Given the description of an element on the screen output the (x, y) to click on. 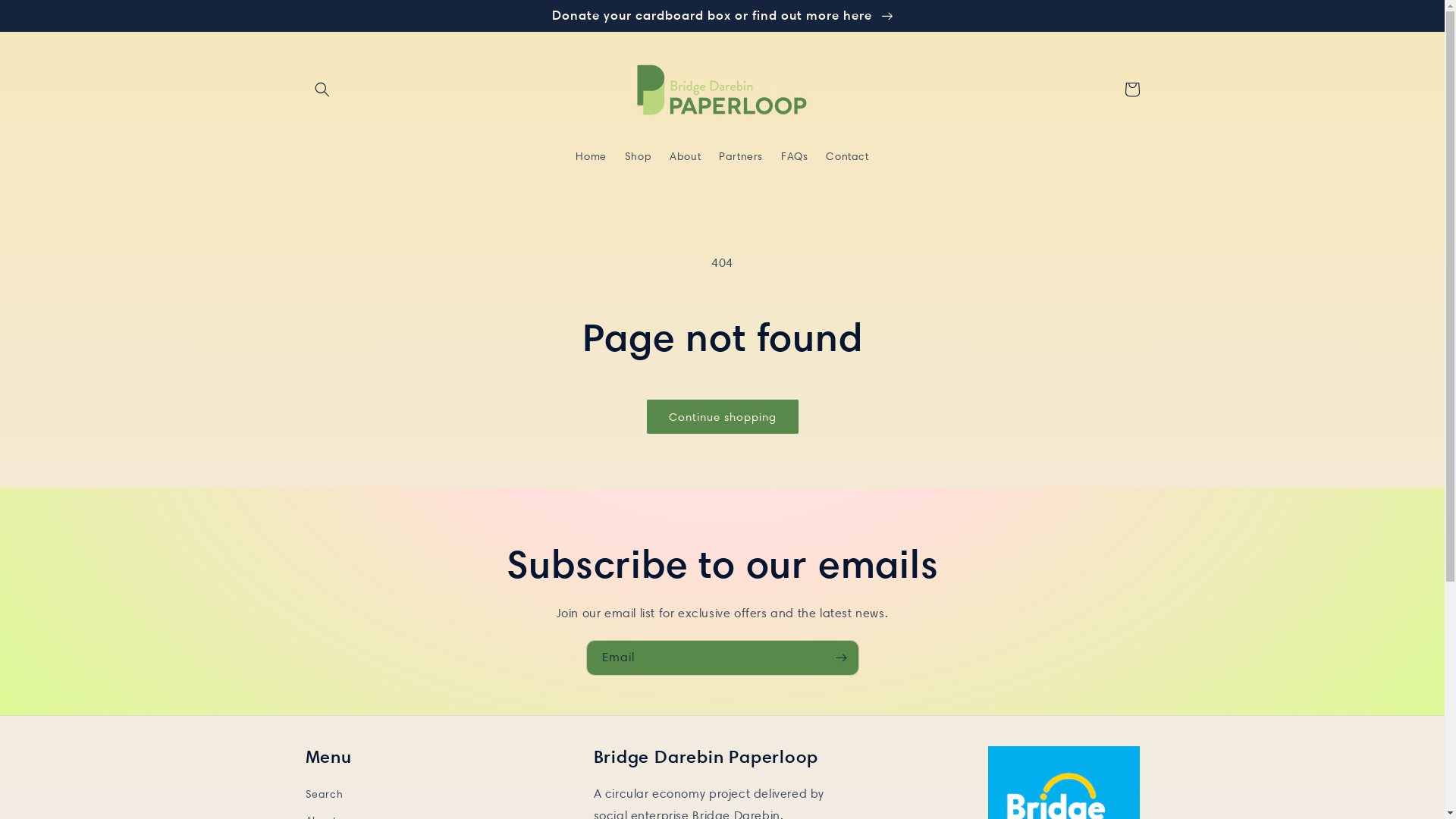
Partners Element type: text (740, 156)
Donate your cardboard box or find out more here Element type: text (722, 15)
Cart Element type: text (1131, 89)
Home Element type: text (590, 156)
Continue shopping Element type: text (722, 416)
About Element type: text (684, 156)
FAQs Element type: text (793, 156)
Contact Element type: text (846, 156)
Search Element type: text (323, 795)
Shop Element type: text (637, 156)
